Given the description of an element on the screen output the (x, y) to click on. 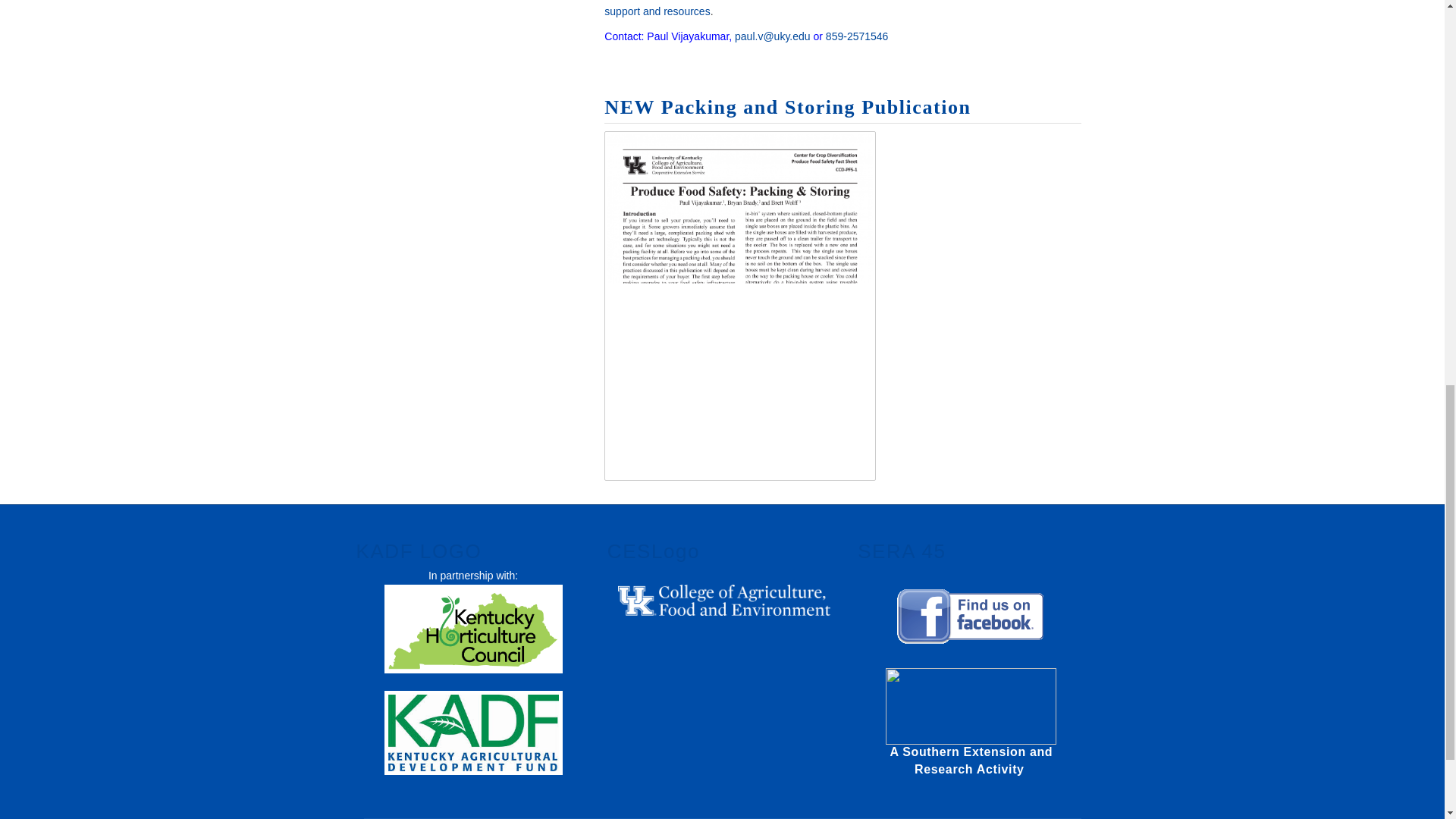
859-2571546 (856, 36)
